Given the description of an element on the screen output the (x, y) to click on. 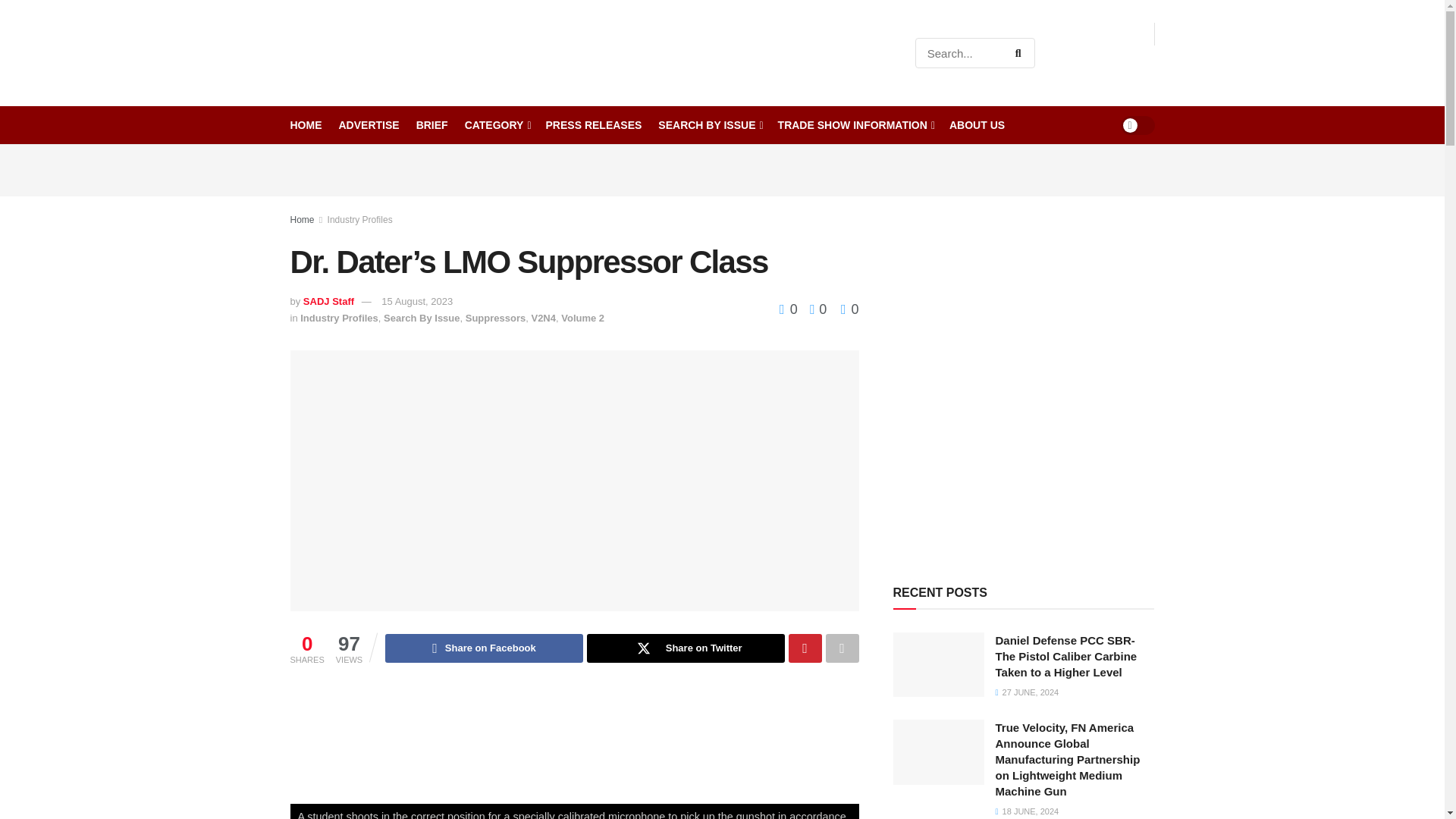
ADVERTISE (367, 124)
CATEGORY (496, 124)
PRESS RELEASES (594, 124)
Login (1135, 64)
SEARCH BY ISSUE (709, 124)
Posts by SADJ Staff (327, 301)
HOME (305, 124)
BRIEF (432, 124)
